Given the description of an element on the screen output the (x, y) to click on. 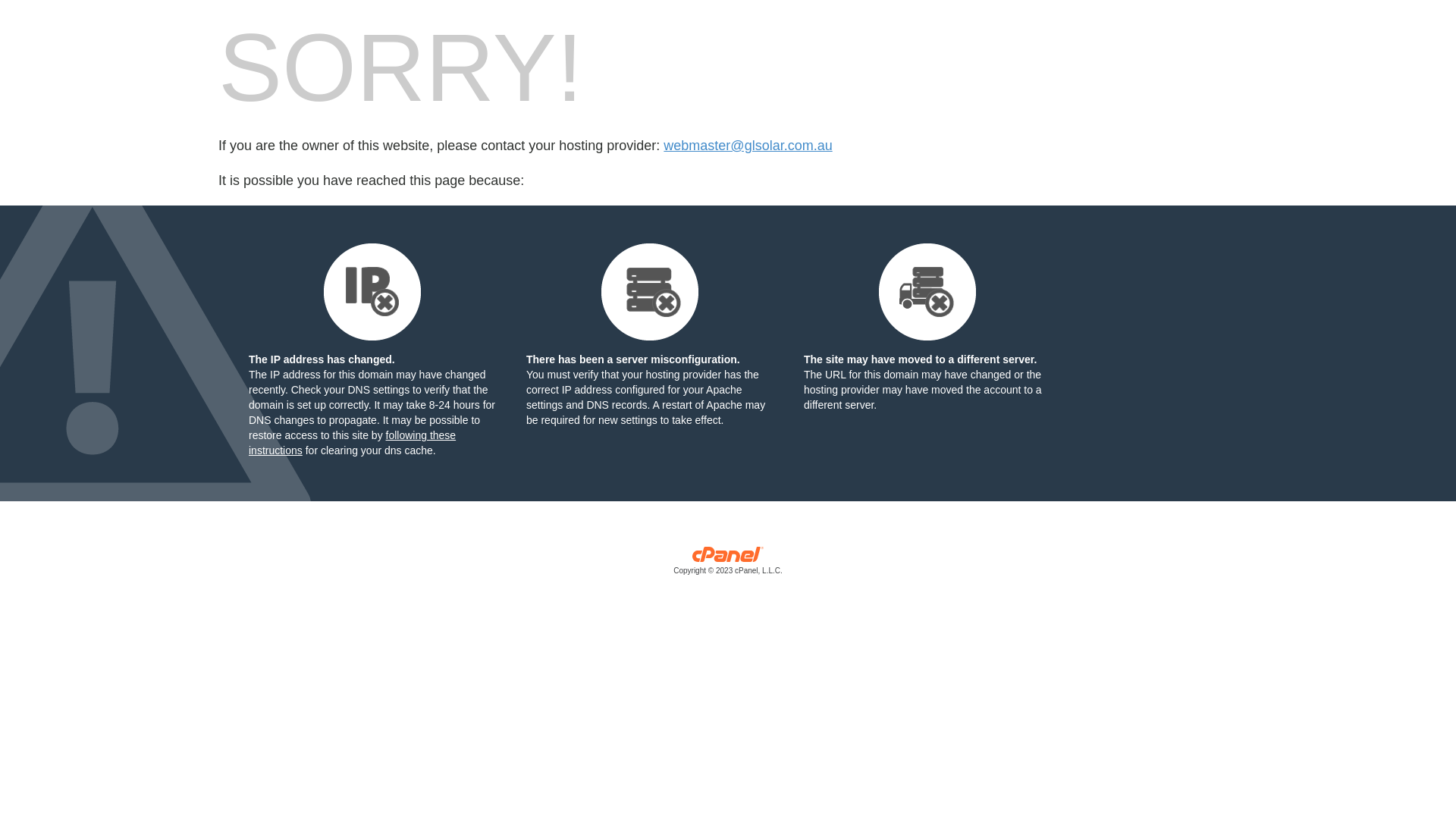
following these instructions Element type: text (351, 442)
webmaster@glsolar.com.au Element type: text (747, 145)
